Given the description of an element on the screen output the (x, y) to click on. 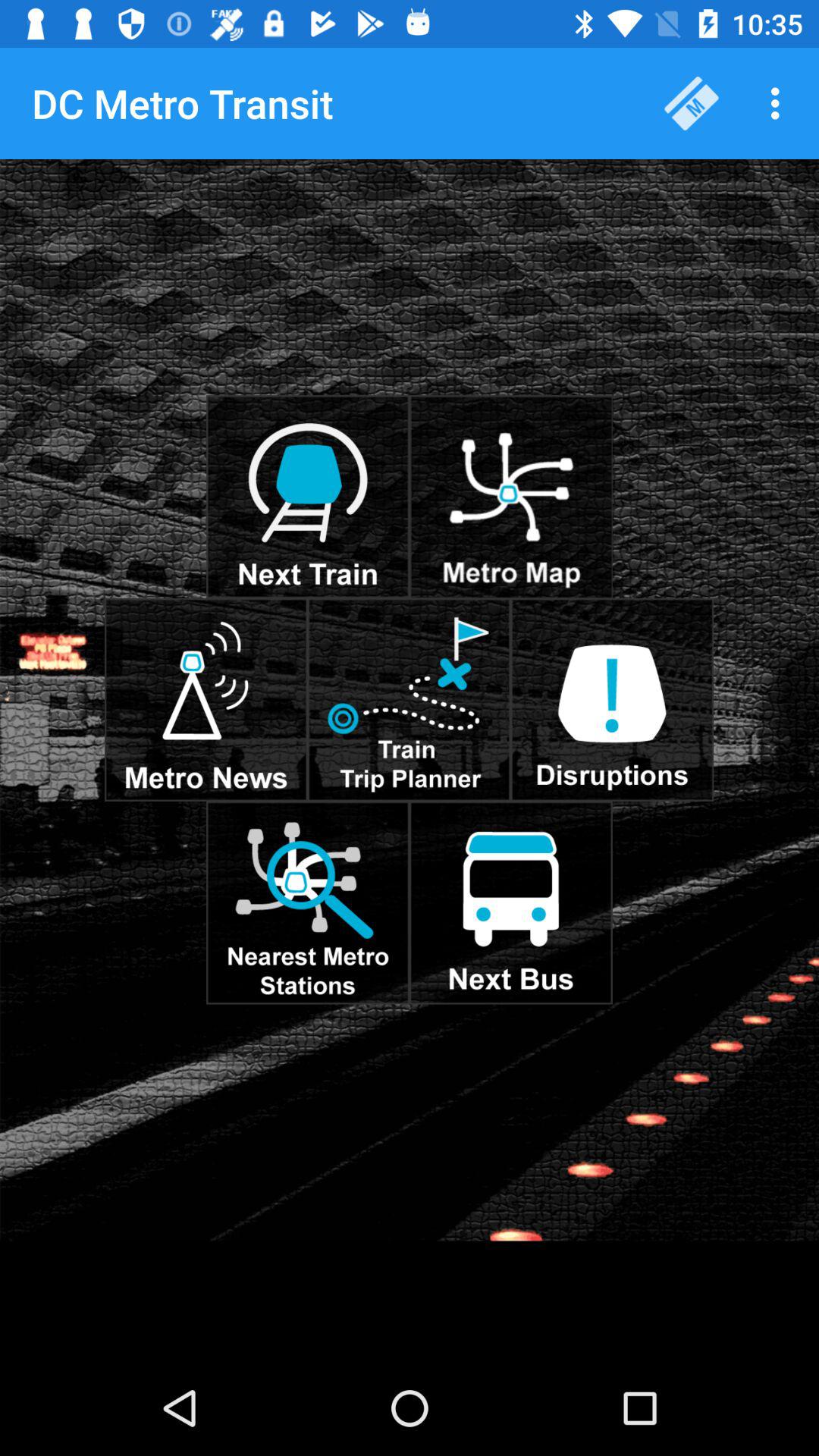
launch item on the right (611, 699)
